Given the description of an element on the screen output the (x, y) to click on. 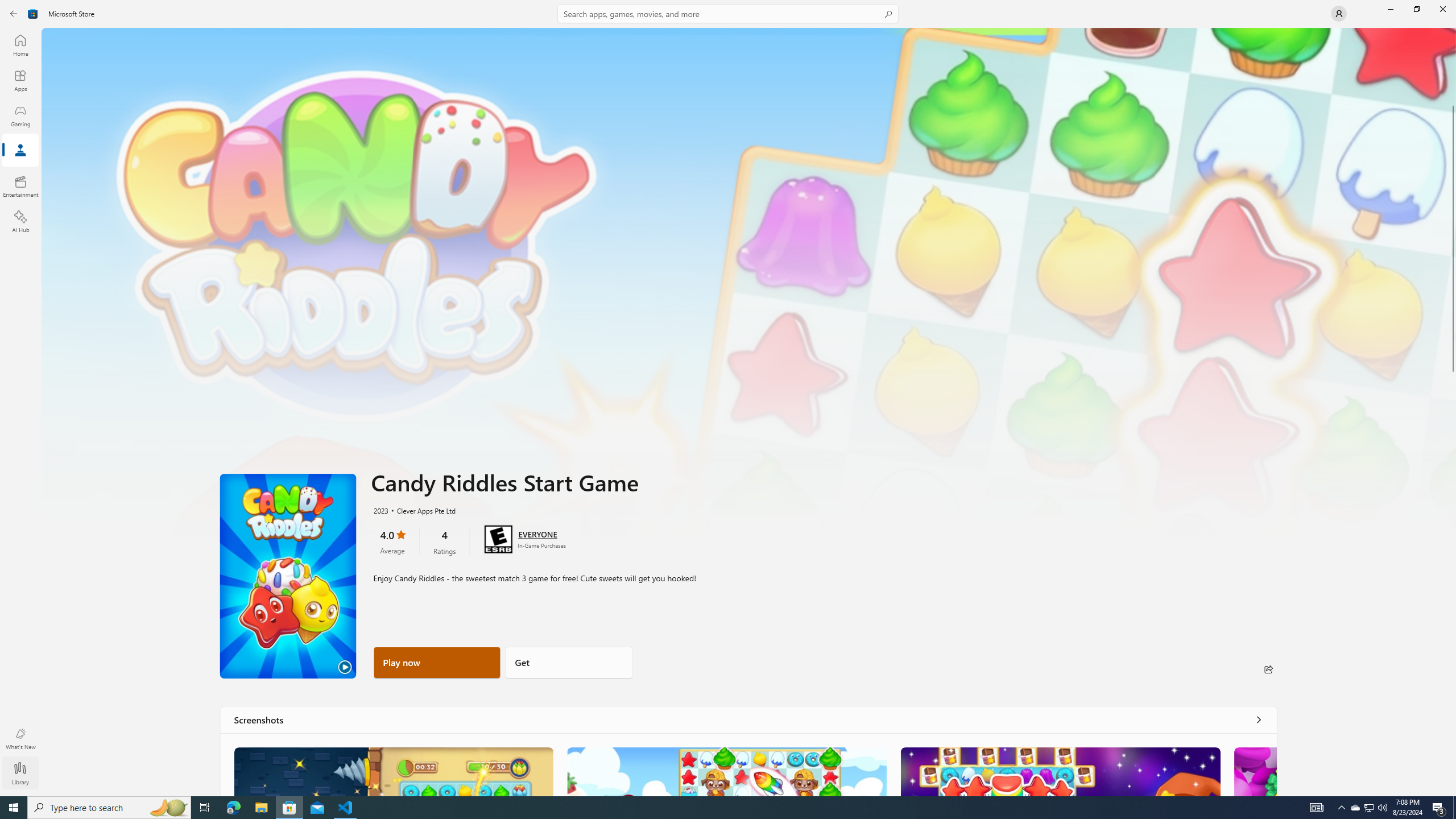
User profile (1338, 13)
AI Hub (20, 221)
Restore Microsoft Store (1416, 9)
Vertical Small Increase (1452, 792)
Vertical Large Increase (1452, 560)
Vertical Small Decrease (1452, 31)
Minimize Microsoft Store (1390, 9)
Included with device (299, 158)
Class: Image (15, 13)
Movies & TV (216, 155)
